Given the description of an element on the screen output the (x, y) to click on. 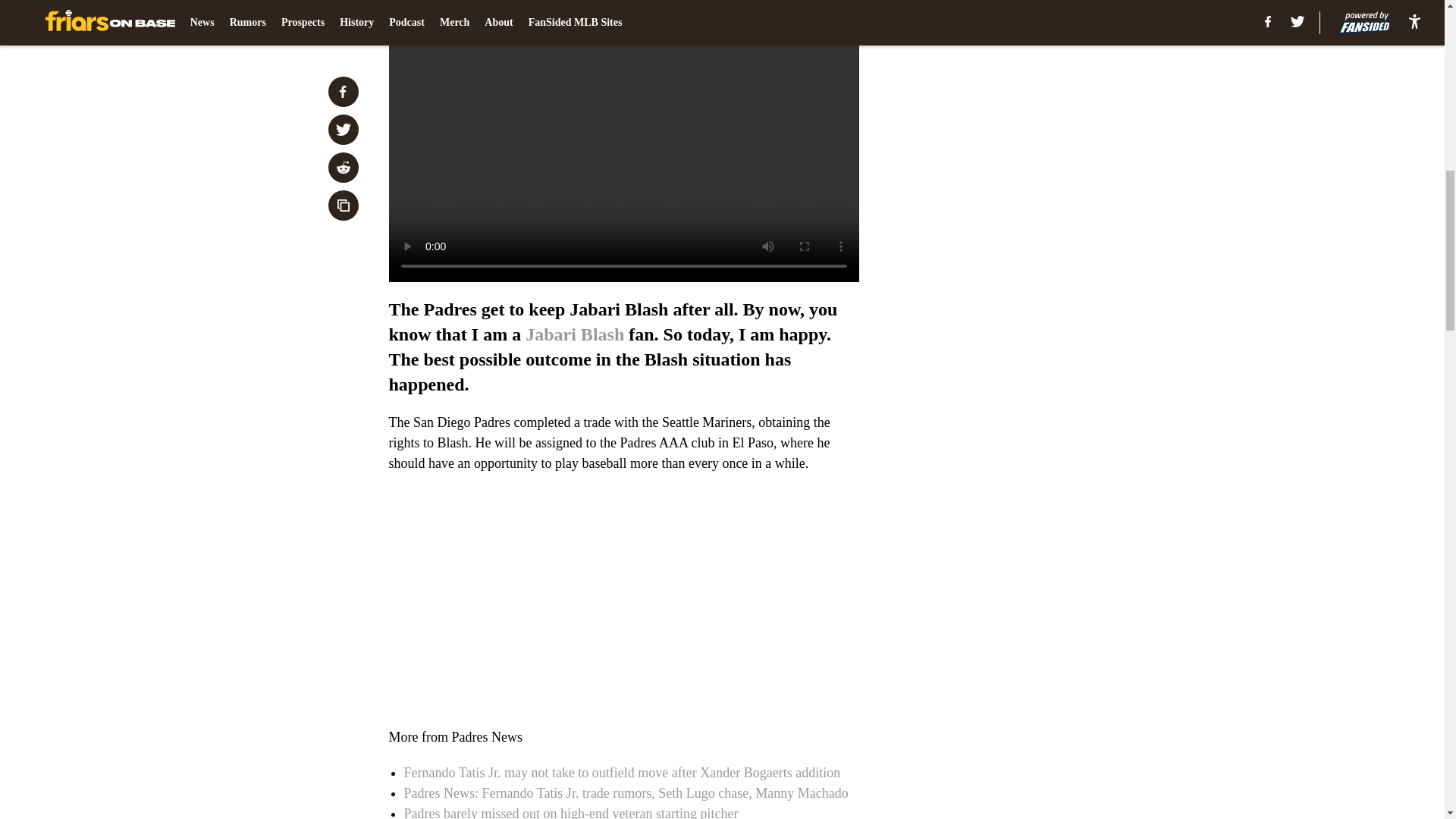
3rd party ad content (1047, 332)
Jabari Blash (574, 333)
3rd party ad content (1047, 113)
